Given the description of an element on the screen output the (x, y) to click on. 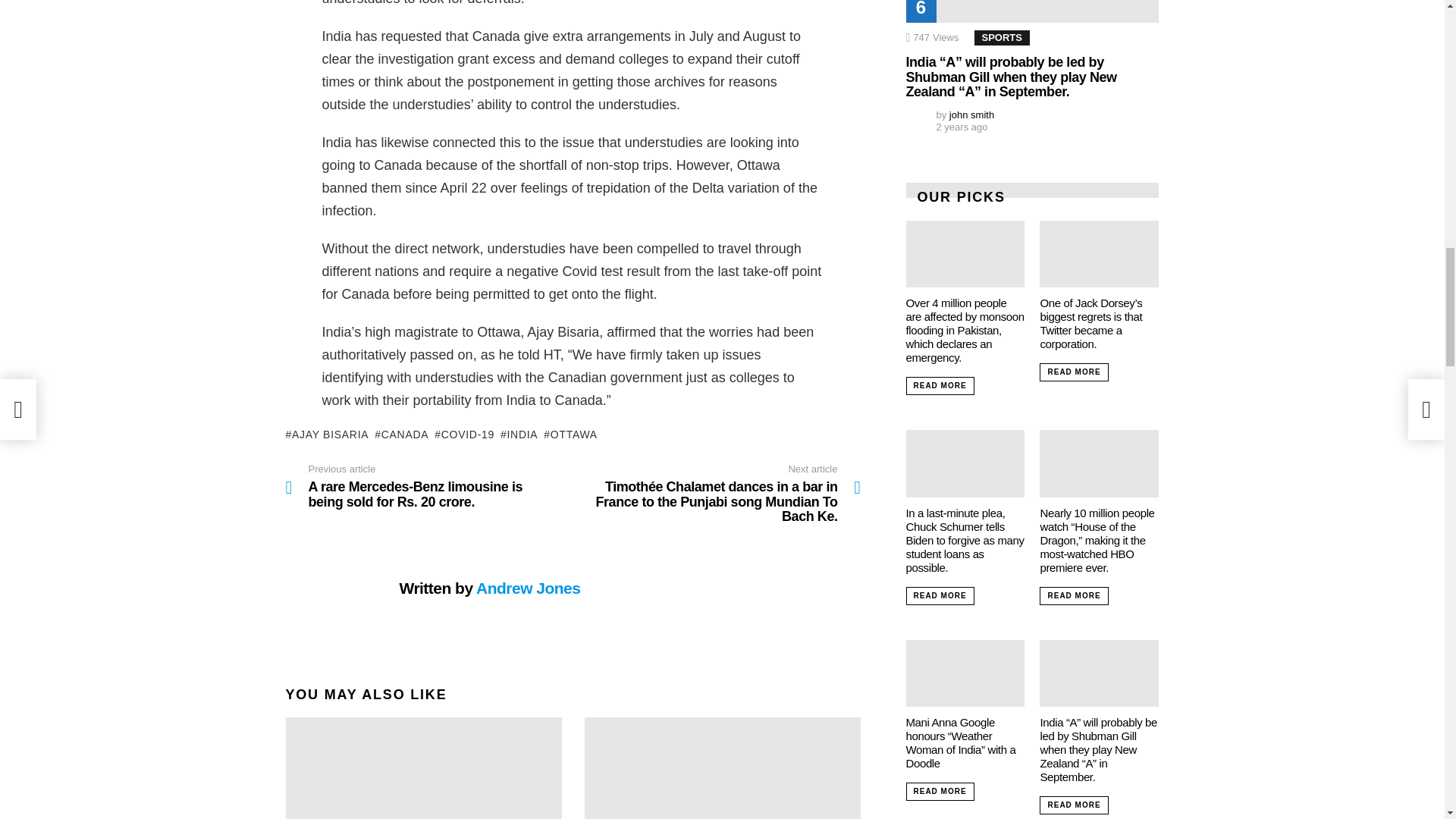
Andrew Jones (527, 588)
OTTAWA (569, 434)
AJAY BISARIA (326, 434)
COVID-19 (464, 434)
CANADA (401, 434)
INDIA (518, 434)
